Given the description of an element on the screen output the (x, y) to click on. 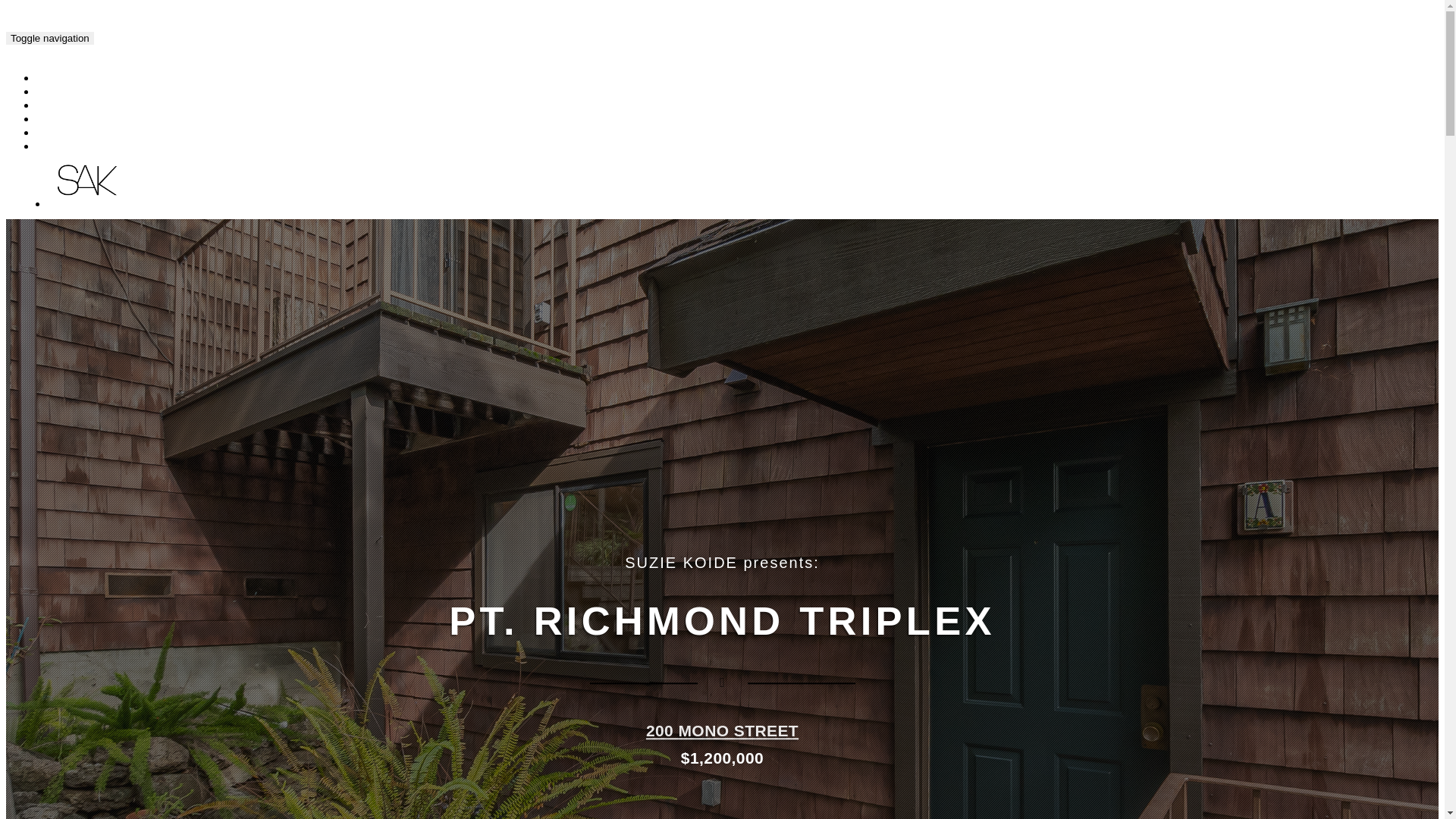
FLOOR PLANS Element type: text (82, 92)
FEATURES Element type: text (73, 106)
200 Mono Street Element type: text (164, 35)
SCHEDULE & CONTACT Element type: text (105, 133)
Toggle navigation Element type: text (50, 37)
GALLERY Element type: text (70, 78)
LOCATION Element type: text (72, 119)
200 MONO STREET Element type: text (722, 730)
